Given the description of an element on the screen output the (x, y) to click on. 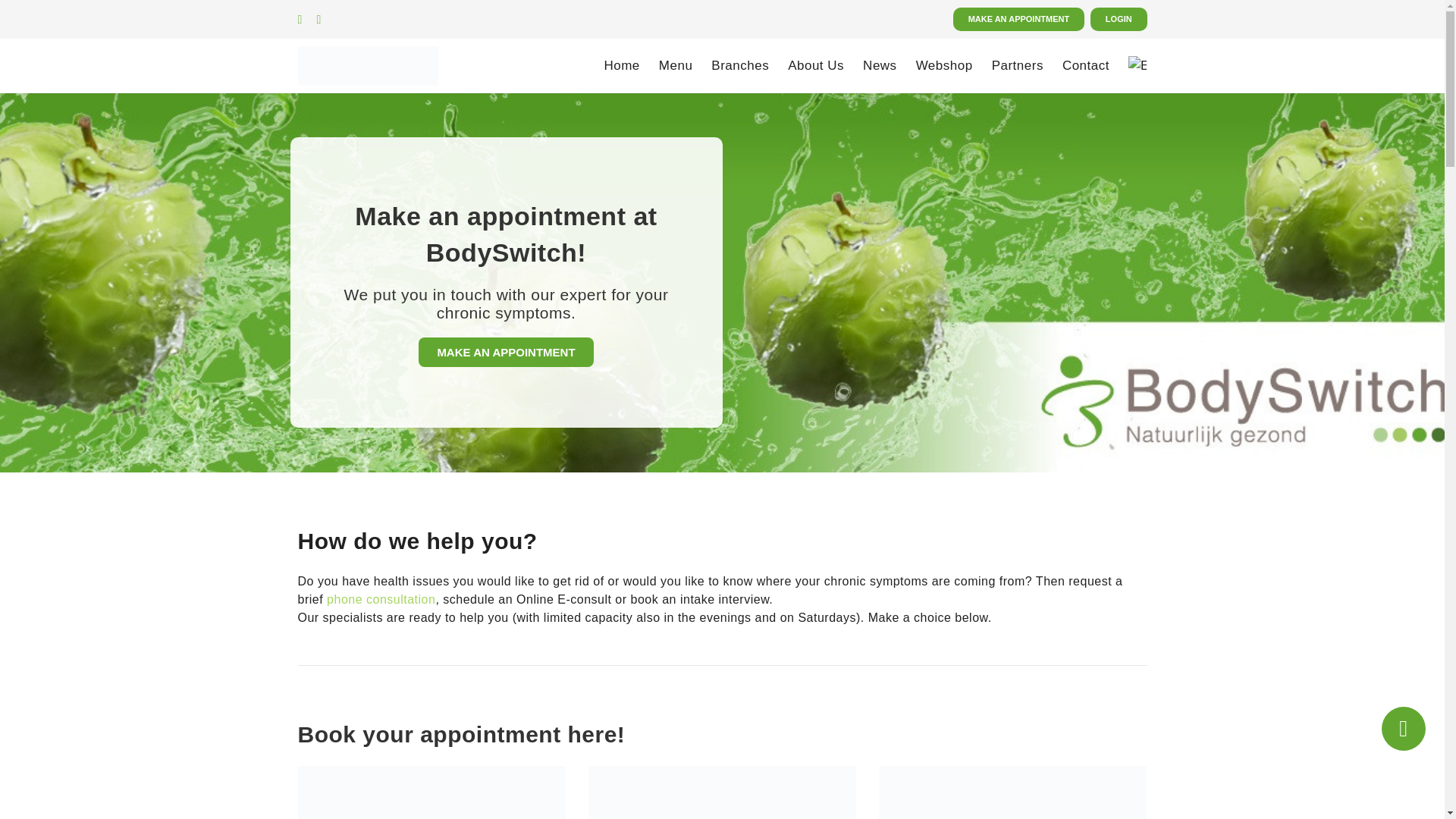
News (879, 65)
Partners (1017, 65)
Branches (739, 65)
Menu (676, 65)
Webshop (943, 65)
Contact (1085, 65)
MAKE AN APPOINTMENT (1018, 19)
Home (621, 65)
About Us (815, 65)
LOGIN (1118, 19)
